Given the description of an element on the screen output the (x, y) to click on. 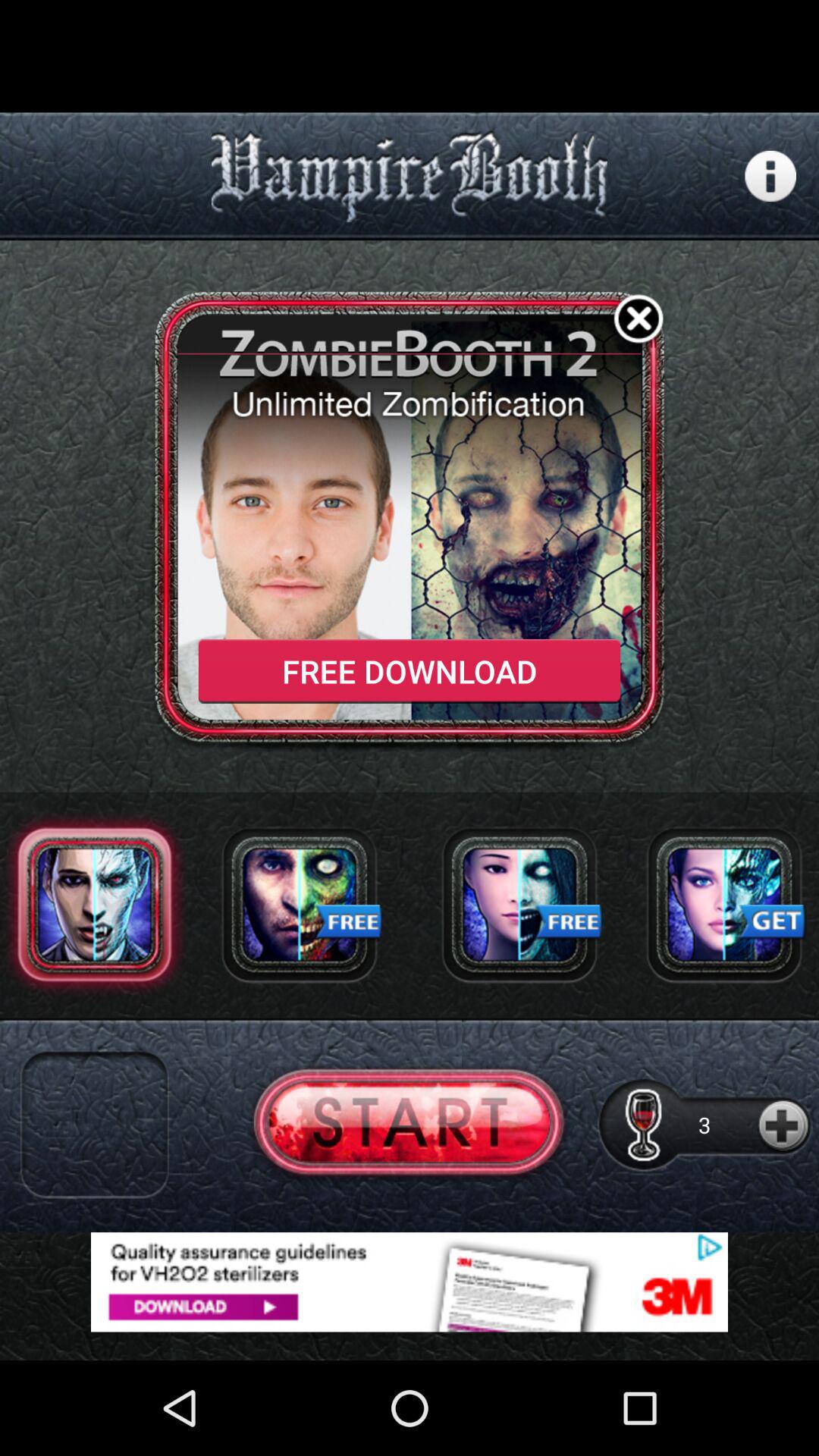
download effect (519, 904)
